Given the description of an element on the screen output the (x, y) to click on. 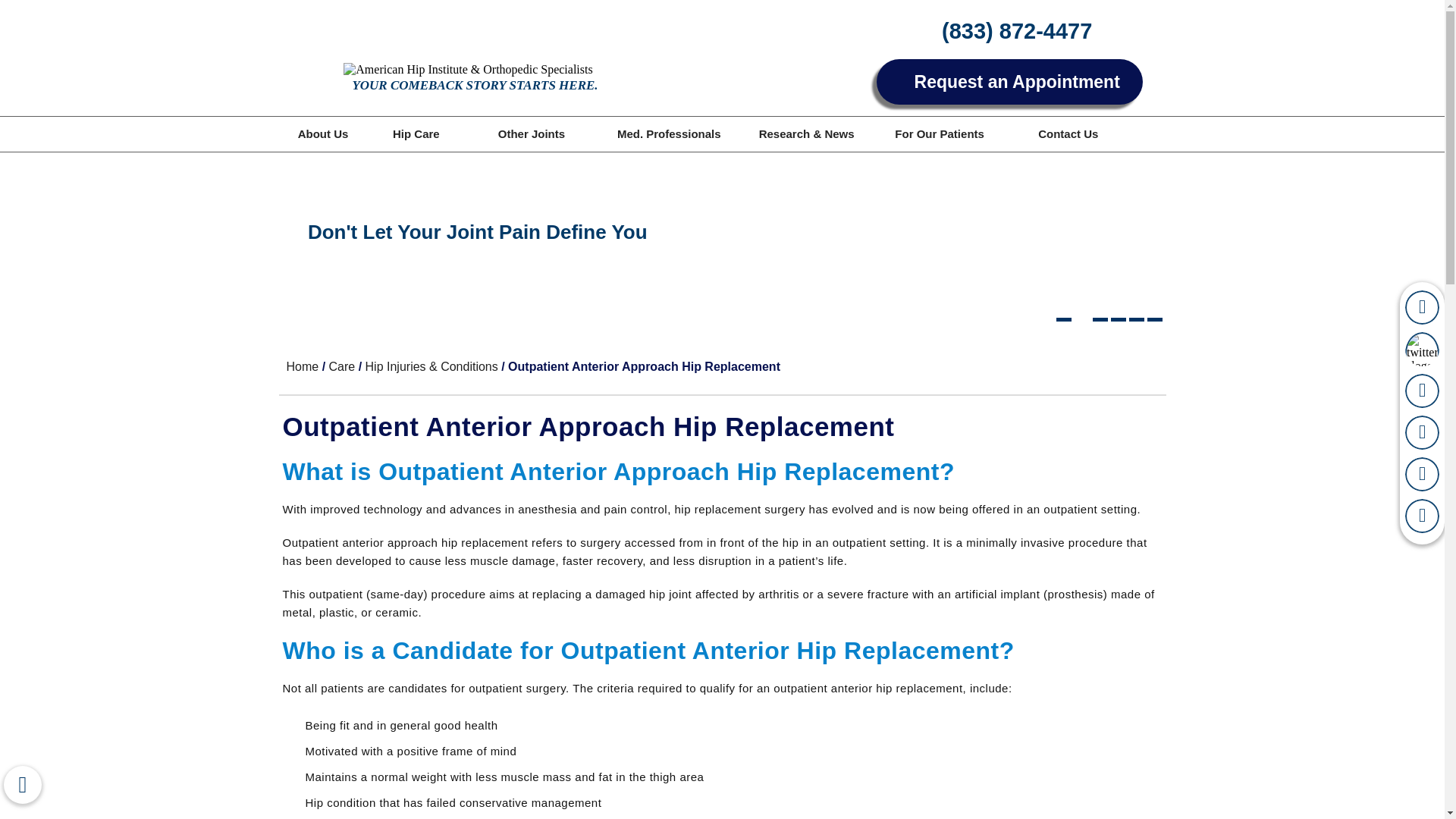
Med. Professionals (668, 134)
Other Joints (531, 134)
Hide (22, 784)
Hip Care (415, 134)
Request an Appointment (1009, 81)
YOUR COMEBACK STORY STARTS HERE. (468, 78)
Accessible Tool Options (23, 784)
About Us (323, 134)
